Given the description of an element on the screen output the (x, y) to click on. 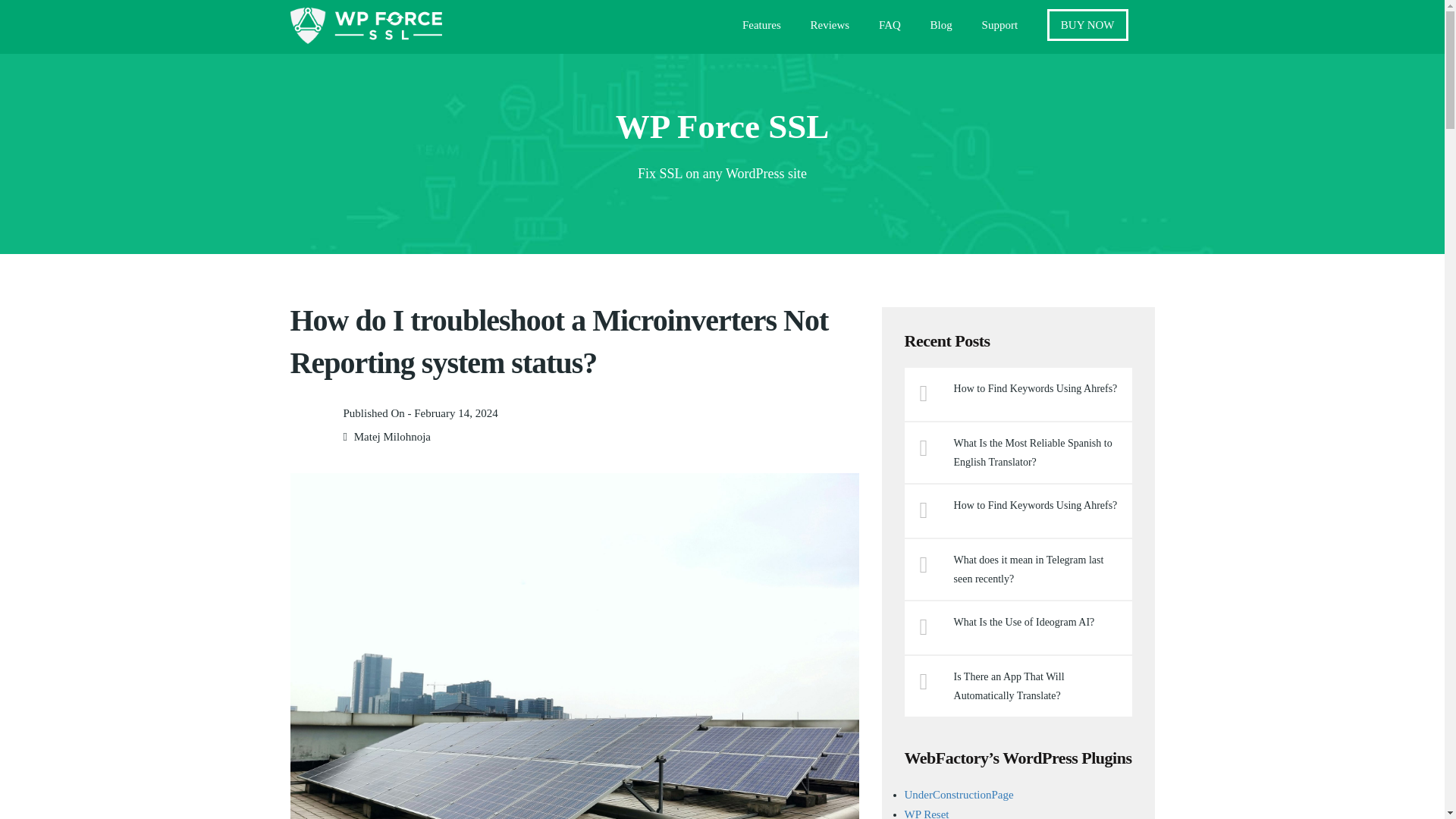
Reviews (830, 28)
What Is the Most Reliable Spanish to English Translator? (1037, 452)
What Is the Use of Ideogram AI? (1037, 621)
How to Find Keywords Using Ahrefs? (1037, 388)
February 14, 2024 (455, 413)
BUY NOW (1087, 24)
UnderConstructionPage (958, 794)
Support (999, 28)
Is There an App That Will Automatically Translate? (1037, 686)
What does it mean in Telegram last seen recently? (1037, 569)
